Given the description of an element on the screen output the (x, y) to click on. 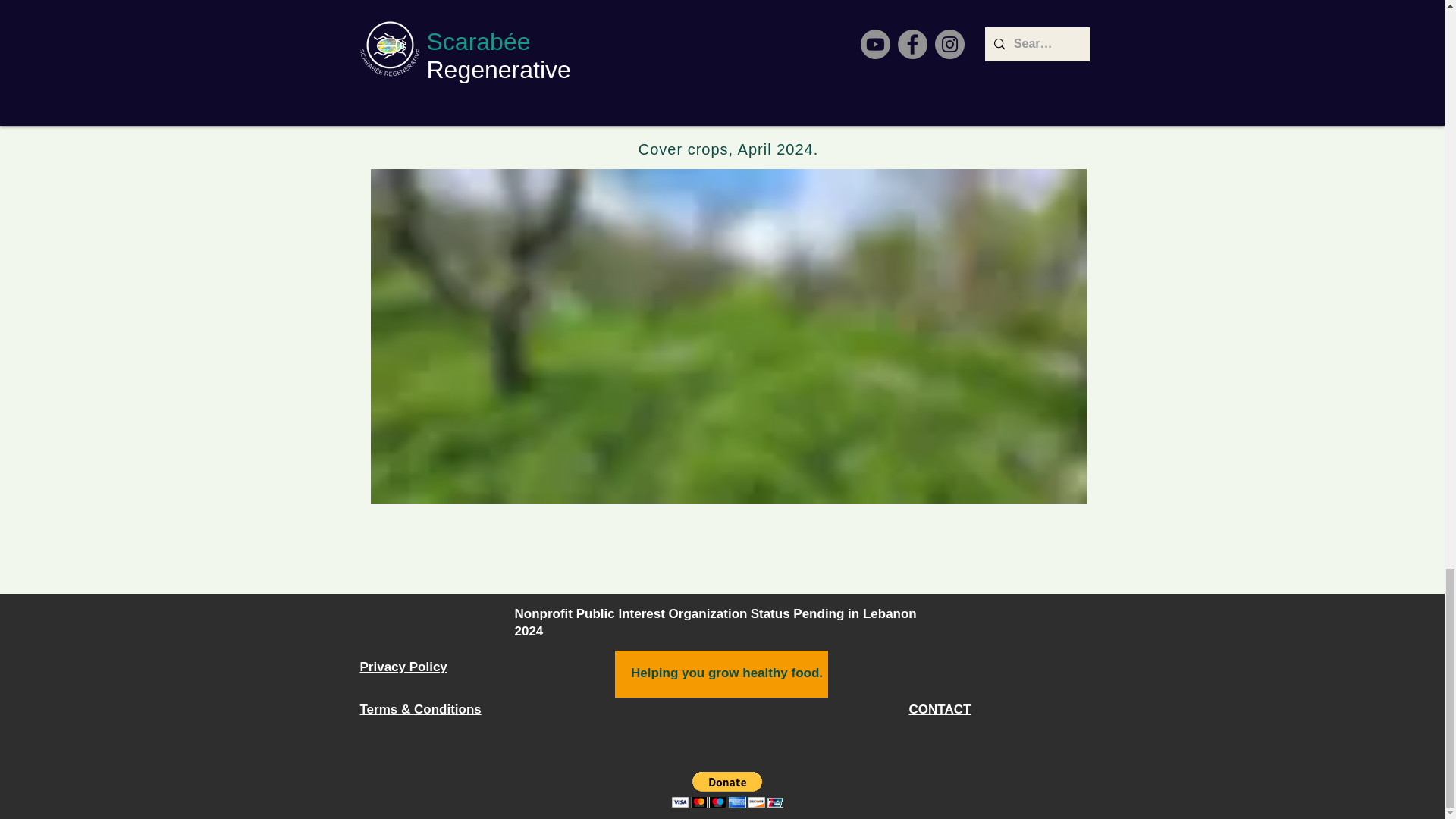
Status Pending in Lebanon 2024 (714, 622)
CONTACT (939, 708)
Nonprofit Public Interest Organization (629, 613)
Privacy Policy (402, 667)
